Given the description of an element on the screen output the (x, y) to click on. 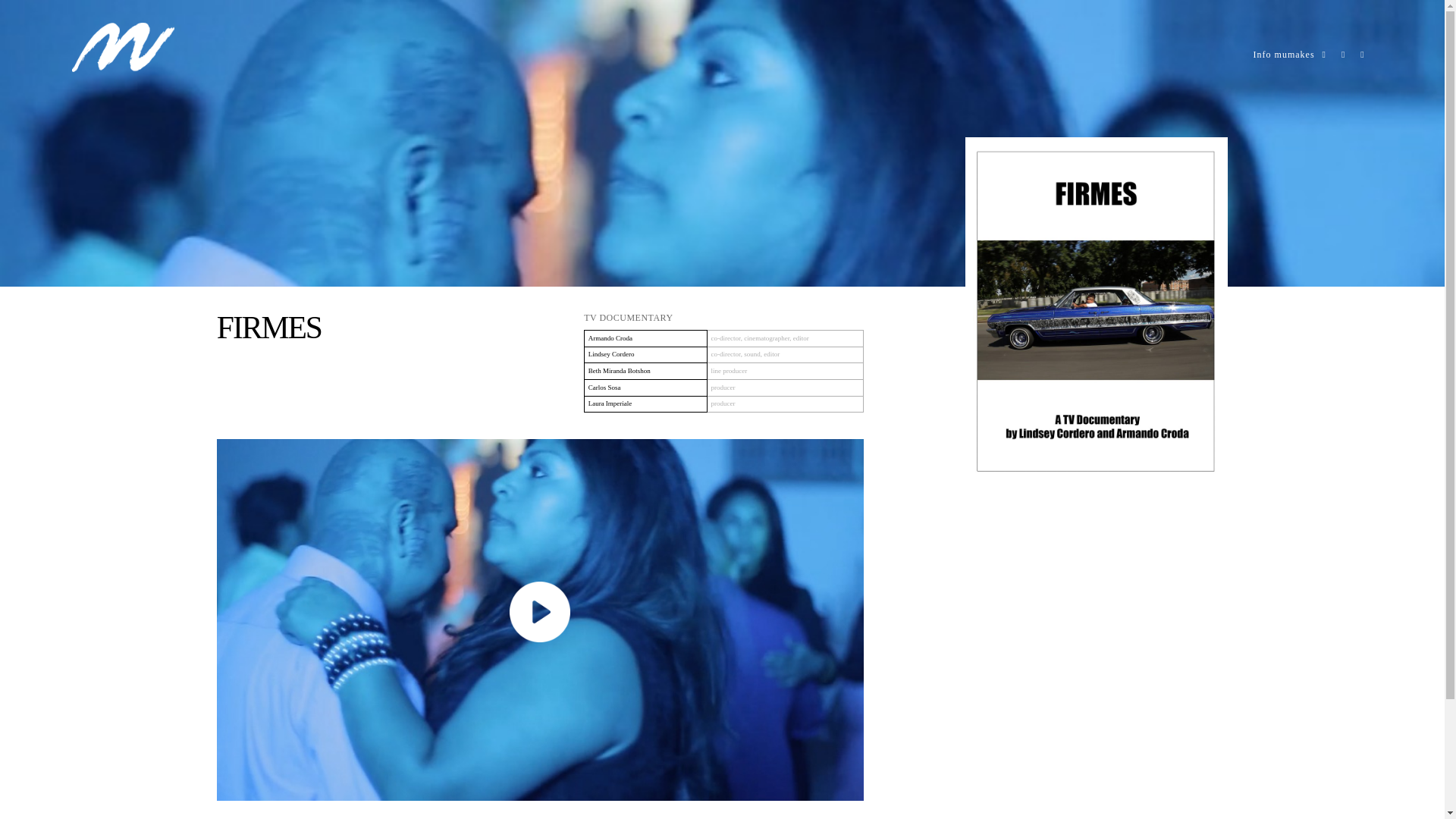
Mu (122, 68)
Info mumakes (1283, 53)
